Given the description of an element on the screen output the (x, y) to click on. 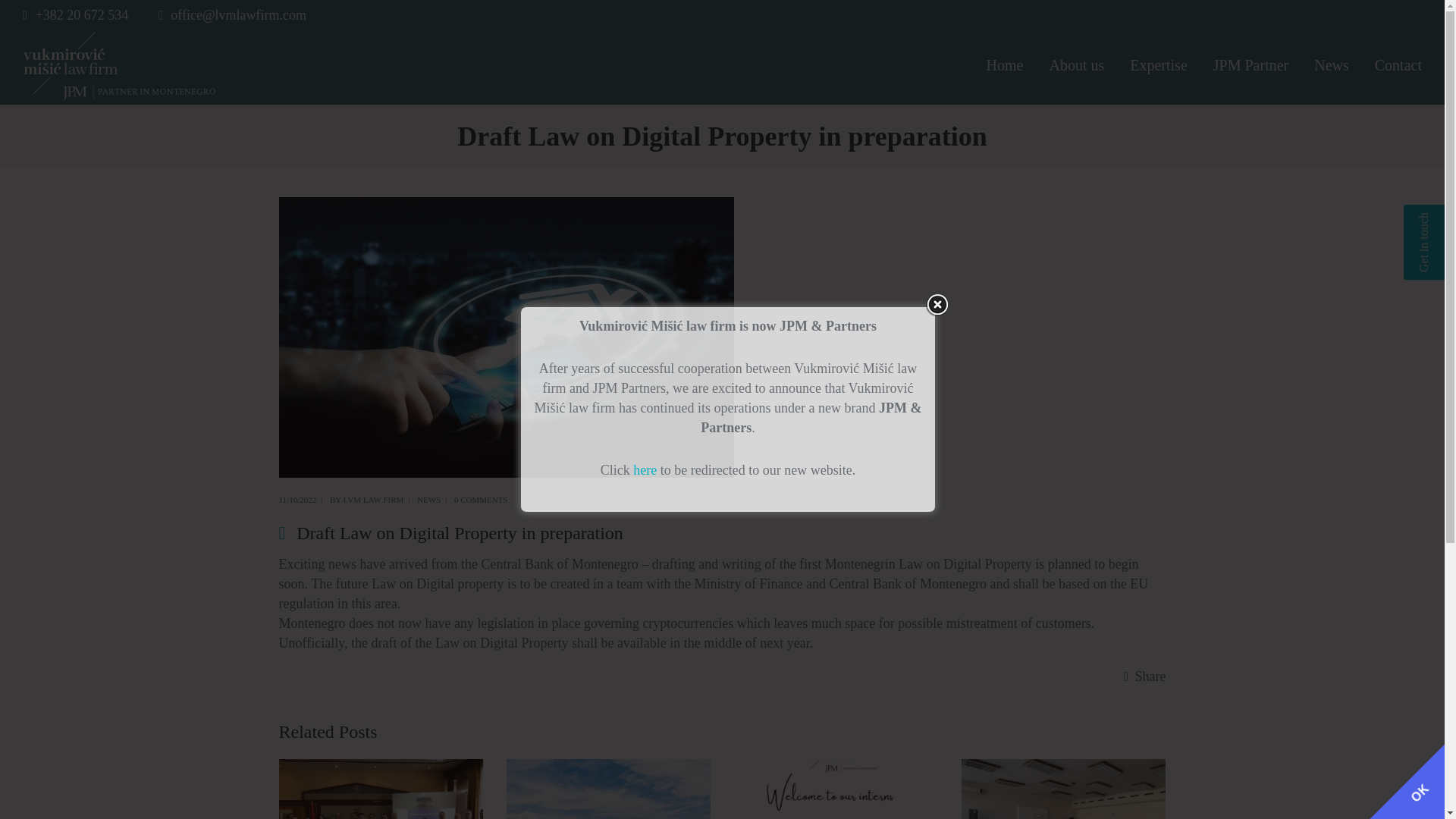
Contact (1398, 66)
LVM LAW FIRM (373, 499)
NEWS (428, 499)
Share (1145, 676)
JPM Partner (1250, 66)
Expertise (1158, 66)
About us (1076, 66)
0 COMMENTS (481, 499)
Close (937, 304)
Home (1004, 66)
News (1331, 66)
